Given the description of an element on the screen output the (x, y) to click on. 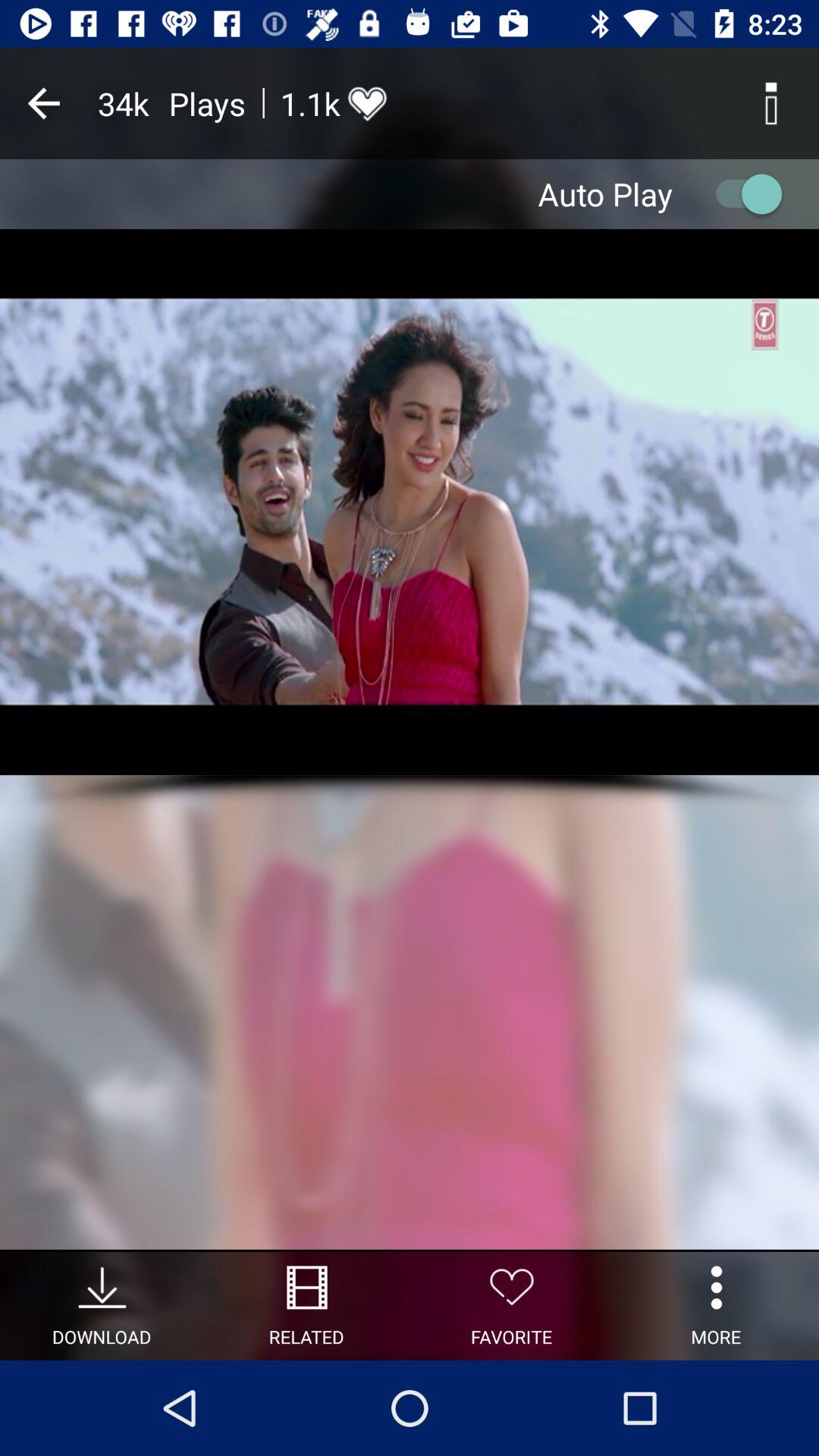
toggle autoplay option (741, 193)
